Given the description of an element on the screen output the (x, y) to click on. 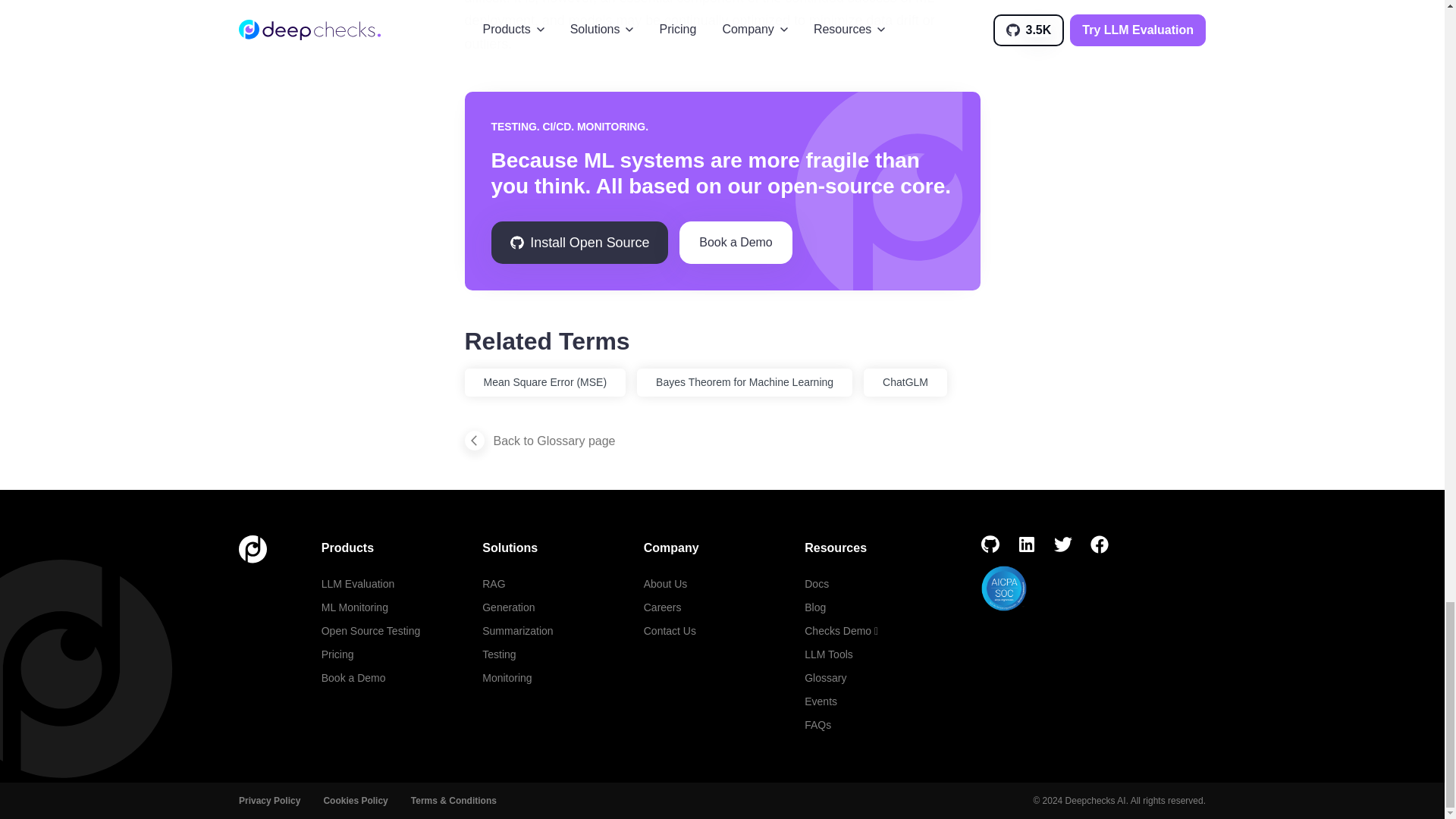
Book a Demo (735, 242)
Bayes Theorem for Machine Learning (744, 382)
ChatGLM (905, 382)
Back to Glossary page (539, 440)
Install Open Source (580, 242)
